Given the description of an element on the screen output the (x, y) to click on. 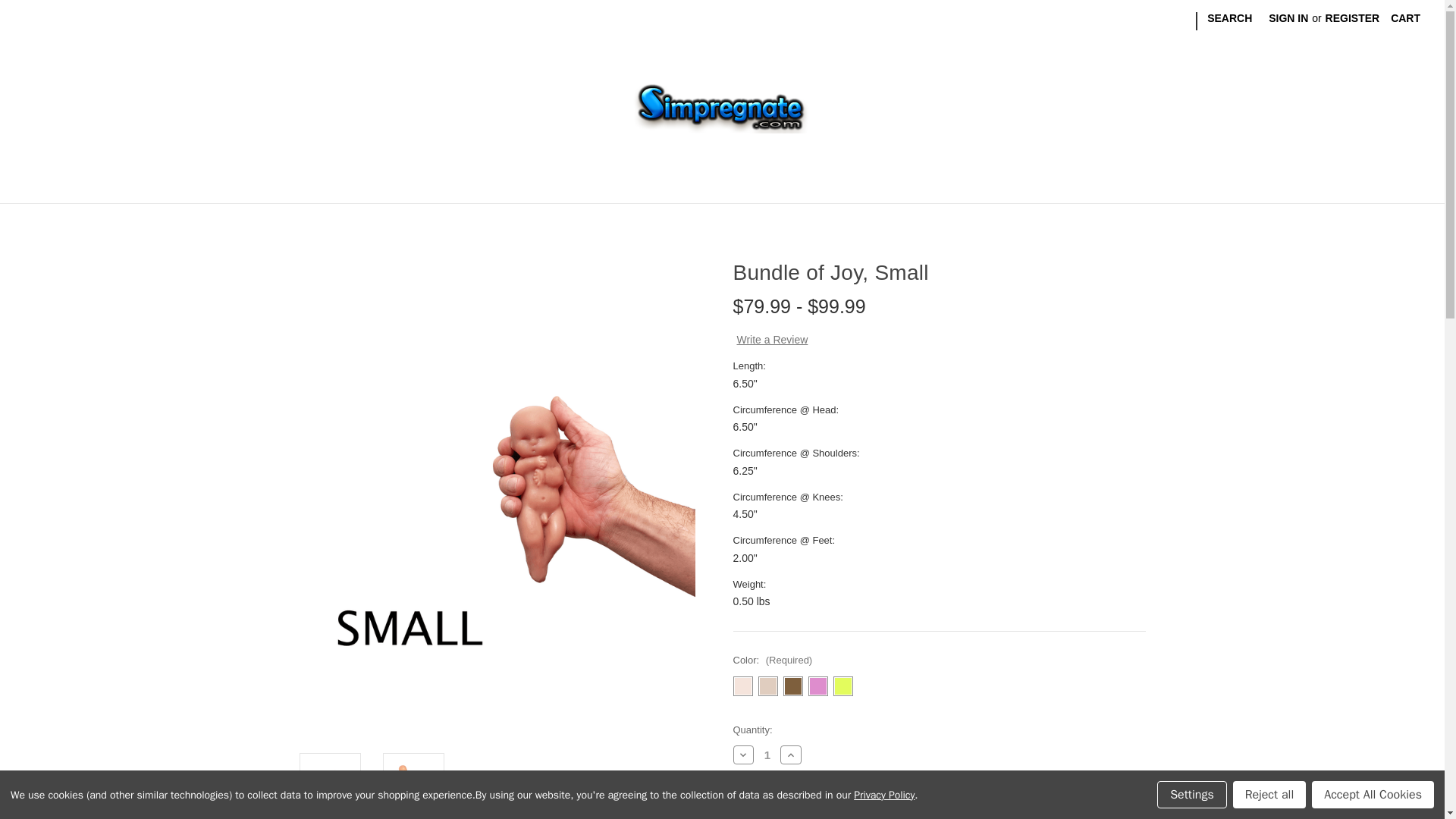
REGISTER (1353, 18)
Add to Cart (834, 807)
1 (767, 754)
Add to Cart (834, 807)
Glow-In-the-Dark (842, 686)
Increase Quantity of Bundle of Joy, Small (791, 754)
